Given the description of an element on the screen output the (x, y) to click on. 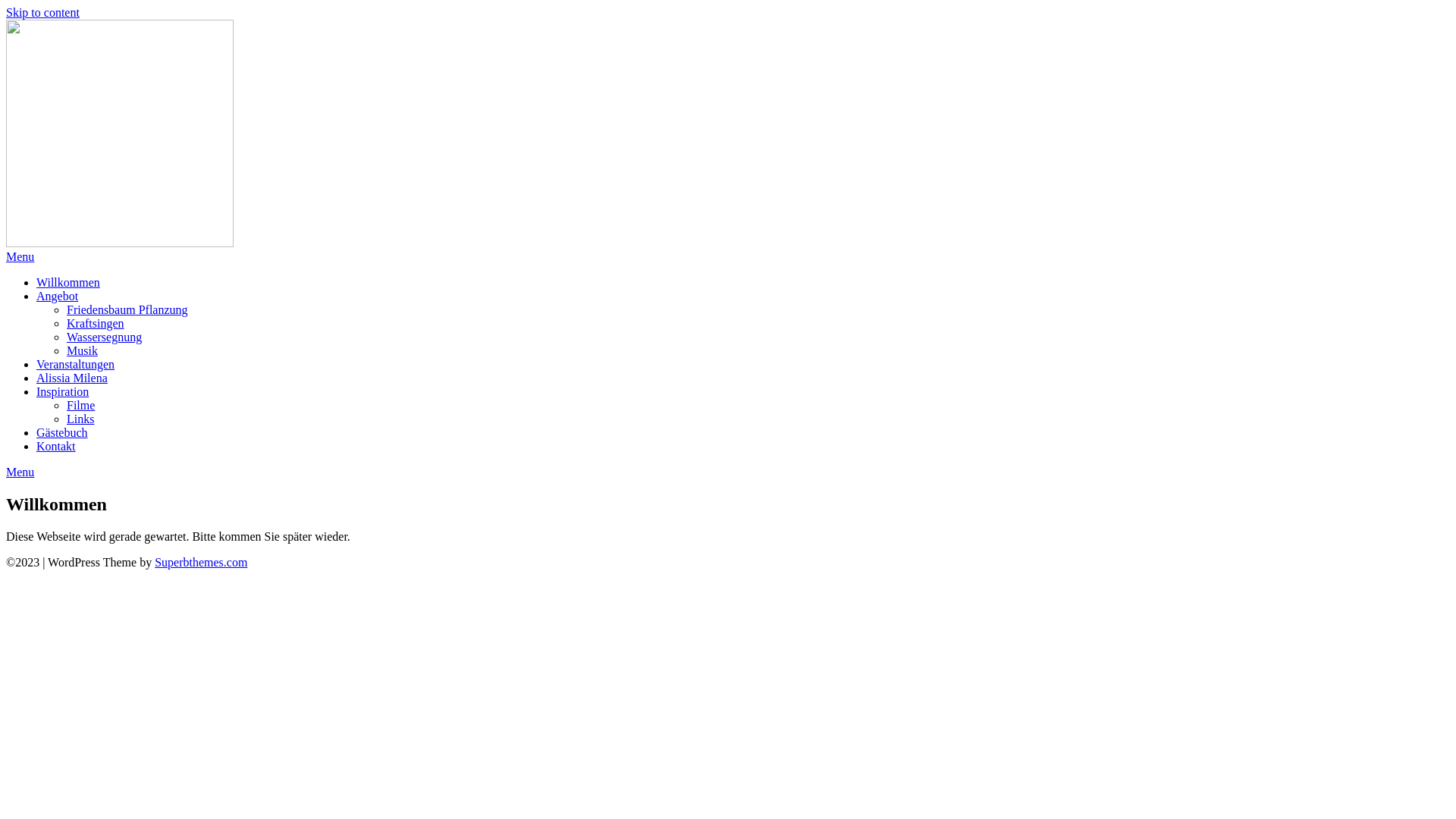
Superbthemes.com Element type: text (200, 561)
Wassersegnung Element type: text (103, 336)
Inspiration Element type: text (62, 391)
Veranstaltungen Element type: text (75, 363)
Alissia Milena Element type: text (71, 377)
Angebot Element type: text (57, 295)
Skip to content Element type: text (42, 12)
Kontakt Element type: text (55, 445)
Friedensbaum Pflanzung Element type: text (127, 309)
Links Element type: text (80, 418)
Willkommen Element type: text (68, 282)
Menu Element type: text (20, 471)
Menu Element type: text (20, 256)
Musik Element type: text (81, 350)
Kraftsingen Element type: text (95, 322)
Filme Element type: text (80, 404)
